Given the description of an element on the screen output the (x, y) to click on. 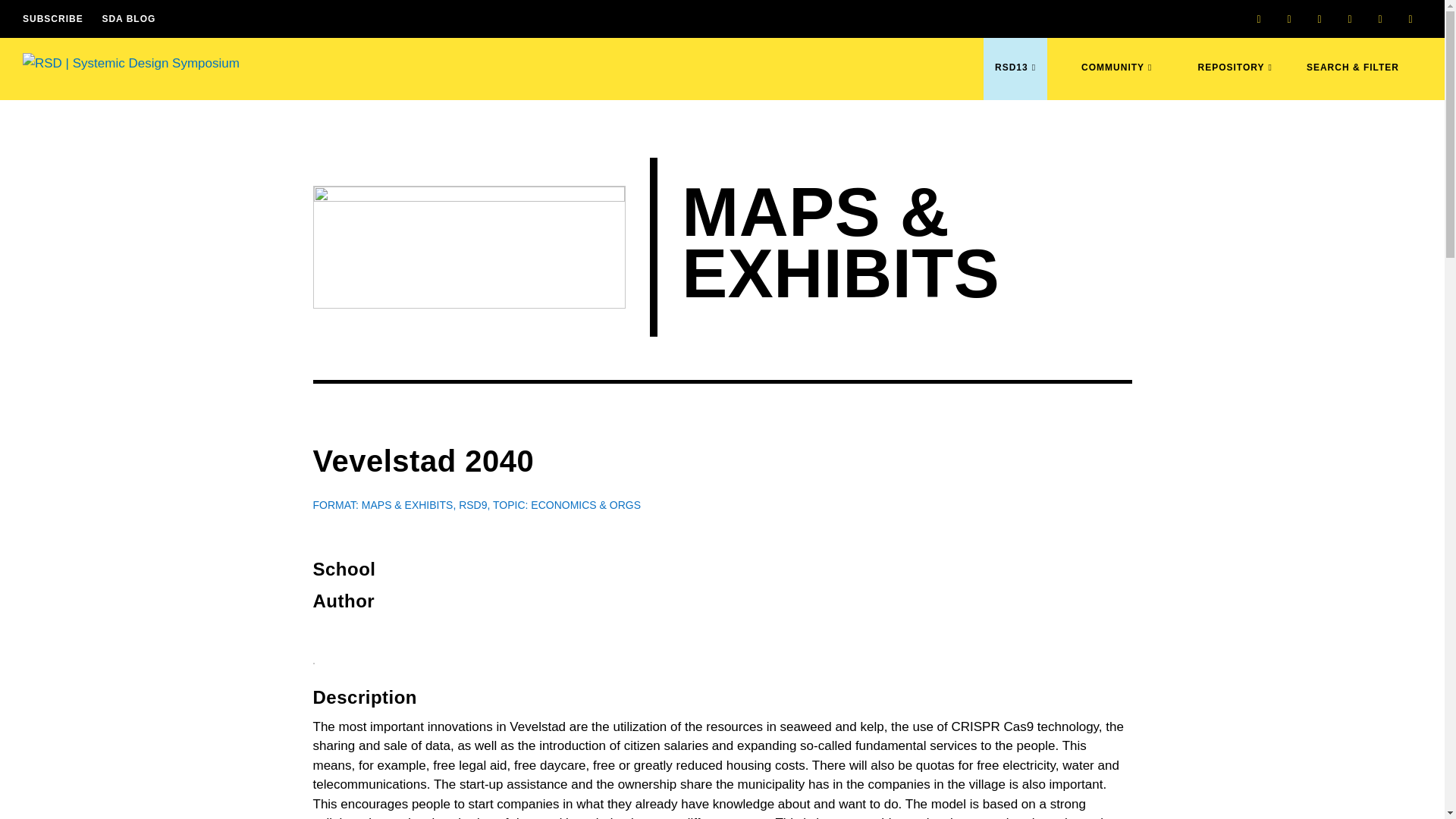
ELMAPAGIGA (470, 247)
COMMUNITY (1116, 79)
RSD13 (1014, 79)
SUBSCRIBE (52, 18)
SDA BLOG (128, 18)
